Given the description of an element on the screen output the (x, y) to click on. 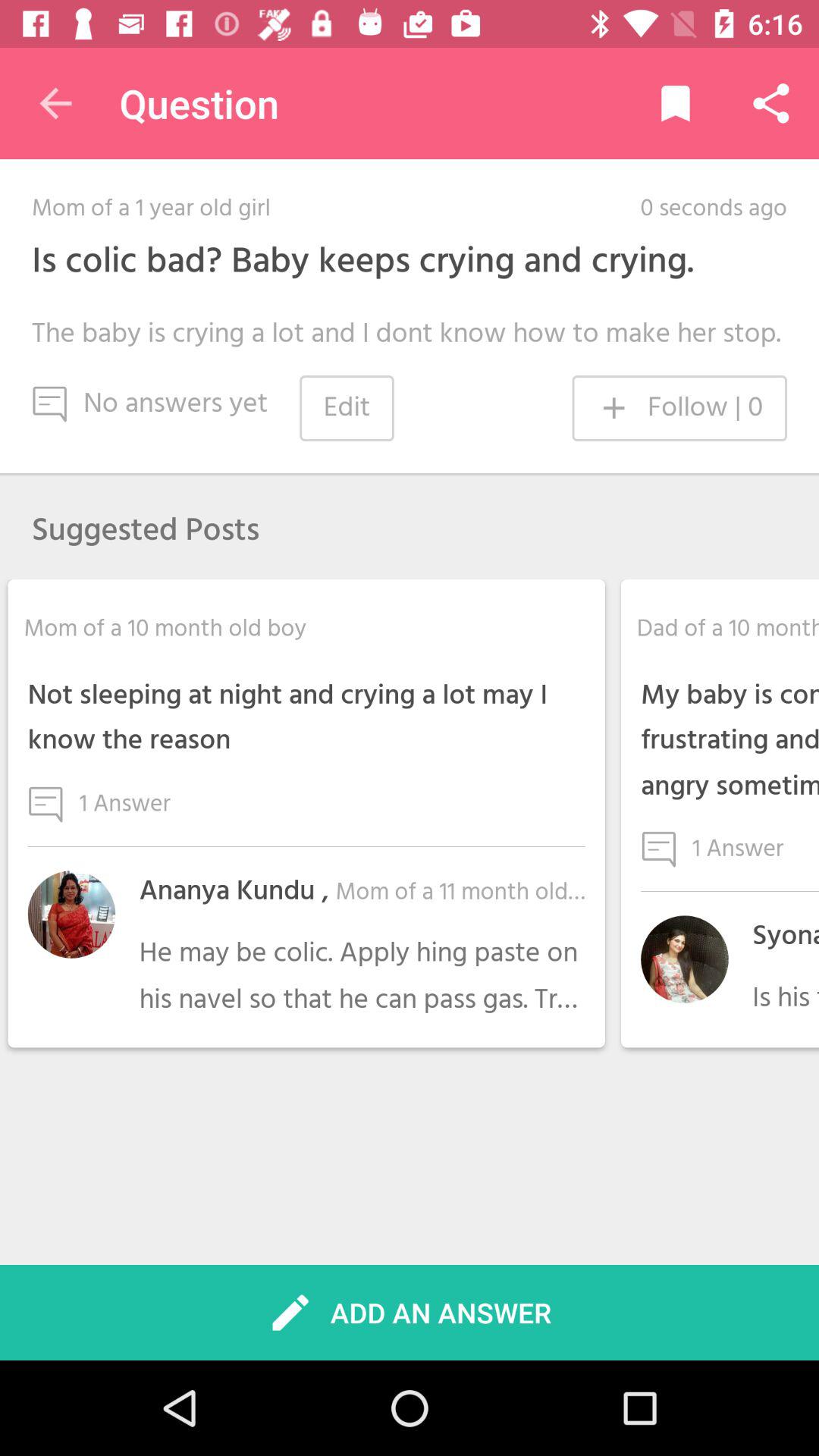
choose the item above the baby is item (362, 261)
